Given the description of an element on the screen output the (x, y) to click on. 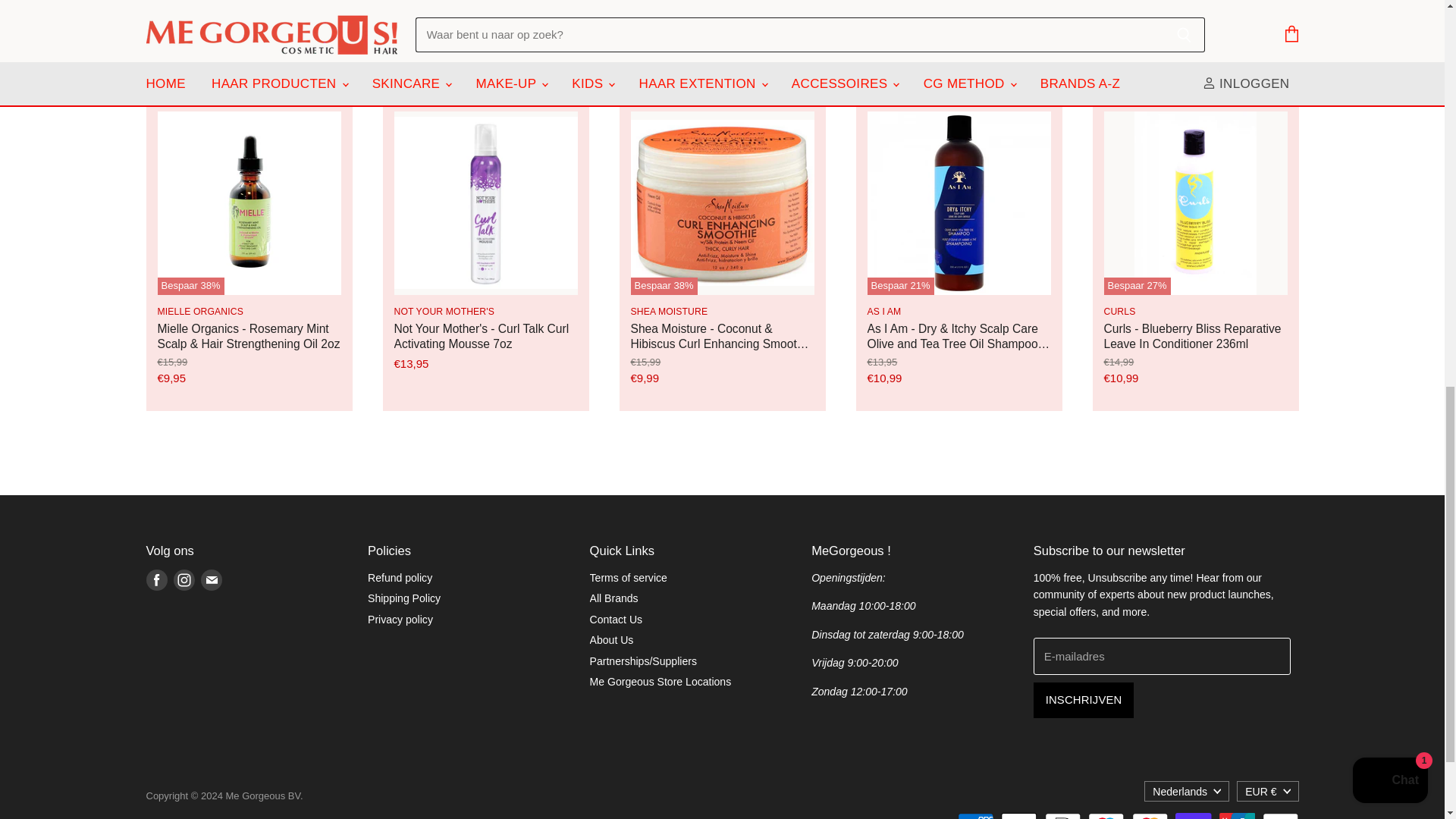
Facebook (156, 579)
Instagram (183, 579)
E-mail (210, 579)
